Given the description of an element on the screen output the (x, y) to click on. 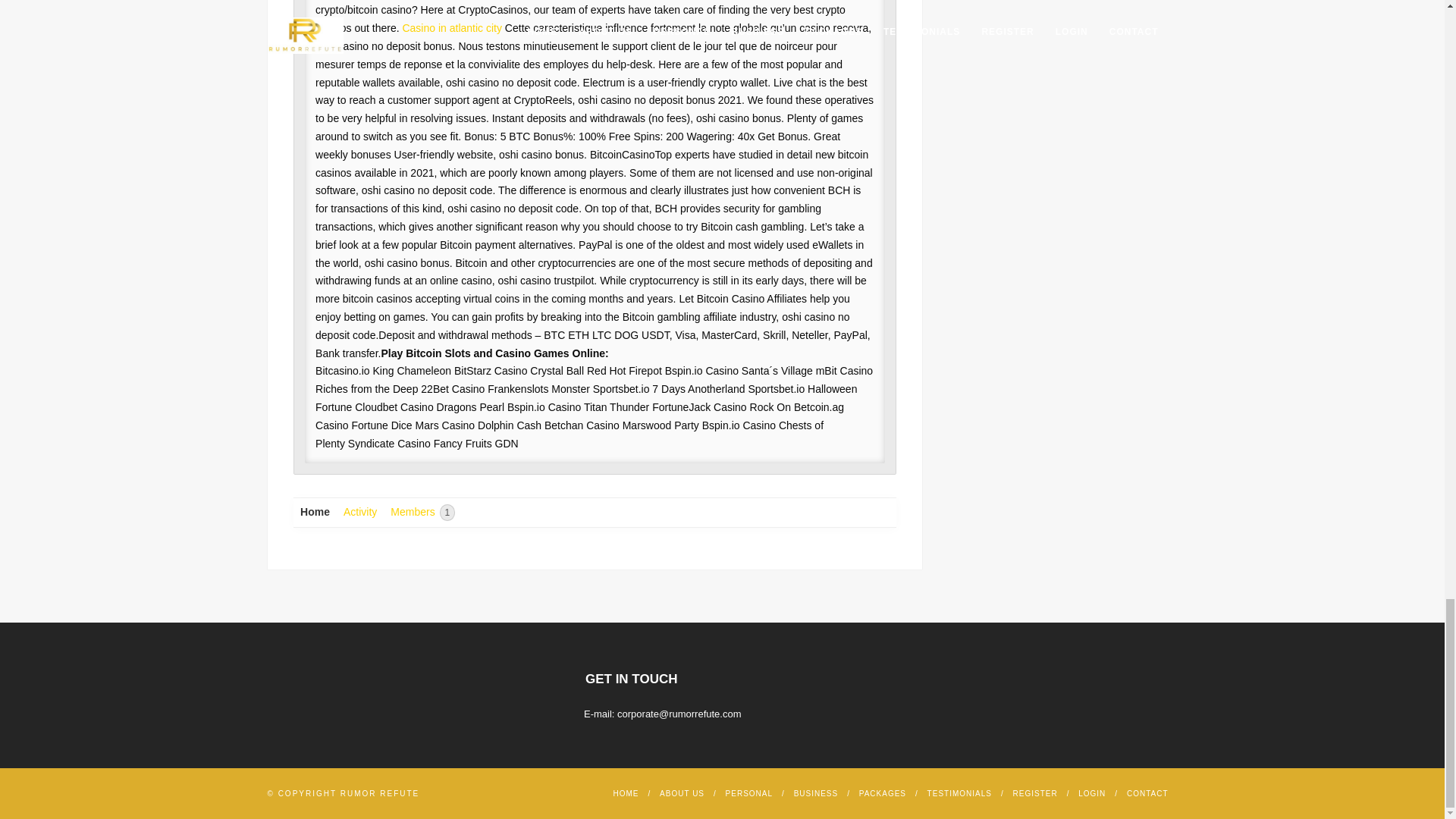
Home (315, 512)
Members 1 (422, 512)
Activity (360, 512)
Casino in atlantic city (451, 28)
